Given the description of an element on the screen output the (x, y) to click on. 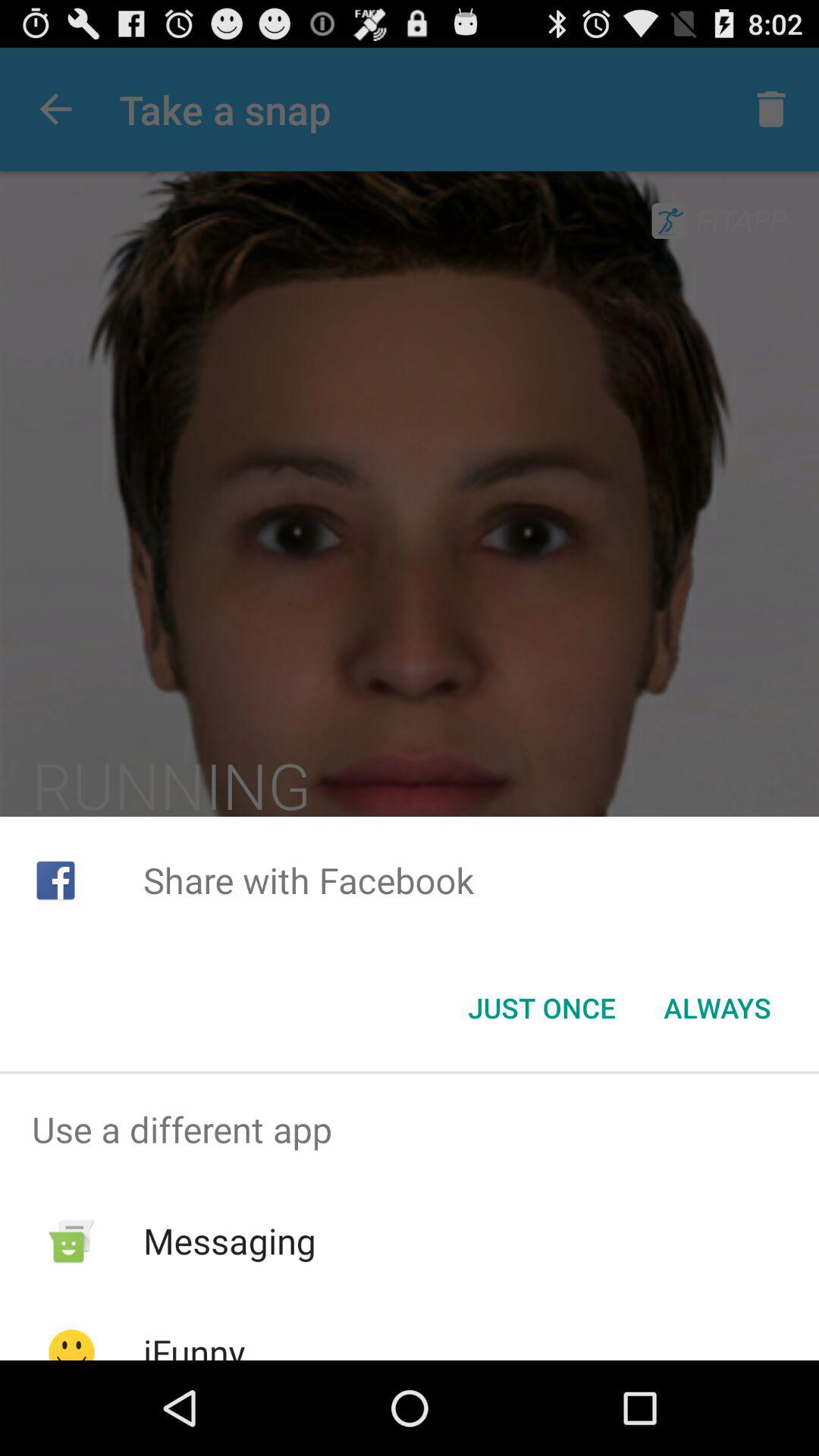
turn off the just once item (541, 1007)
